Given the description of an element on the screen output the (x, y) to click on. 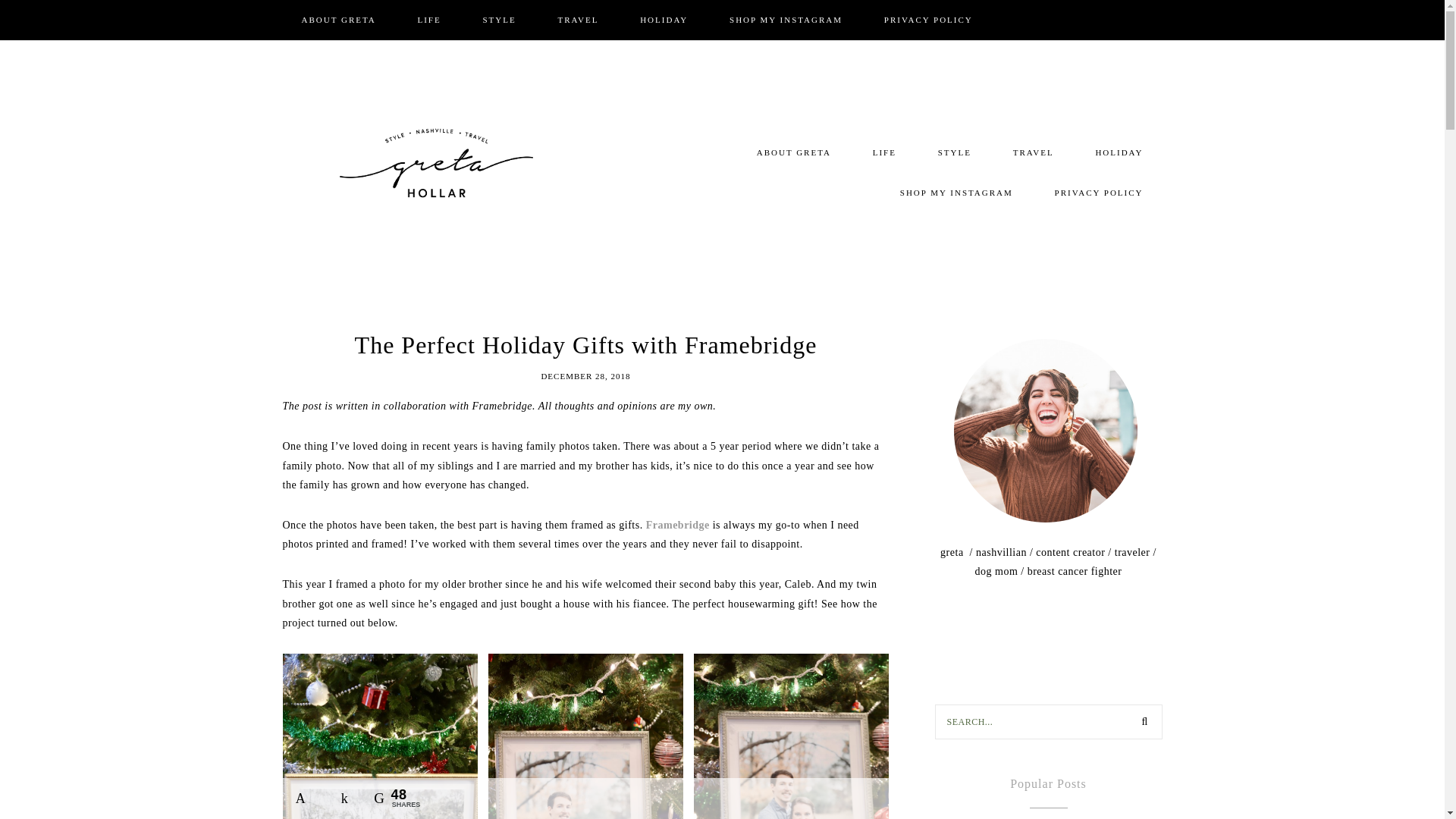
LinkedIn (1072, 61)
TRAVEL (577, 20)
TikTok (1099, 621)
Instagram (1047, 61)
ABOUT GRETA (338, 20)
Facebook (1022, 61)
Pinterest (1064, 621)
Bloglovin (972, 61)
Twitter (1134, 621)
Twitter (1122, 61)
Facebook (1022, 60)
Facebook (960, 621)
LinkedIn (1029, 621)
YouTube (1048, 655)
Bloglovin (972, 60)
